Given the description of an element on the screen output the (x, y) to click on. 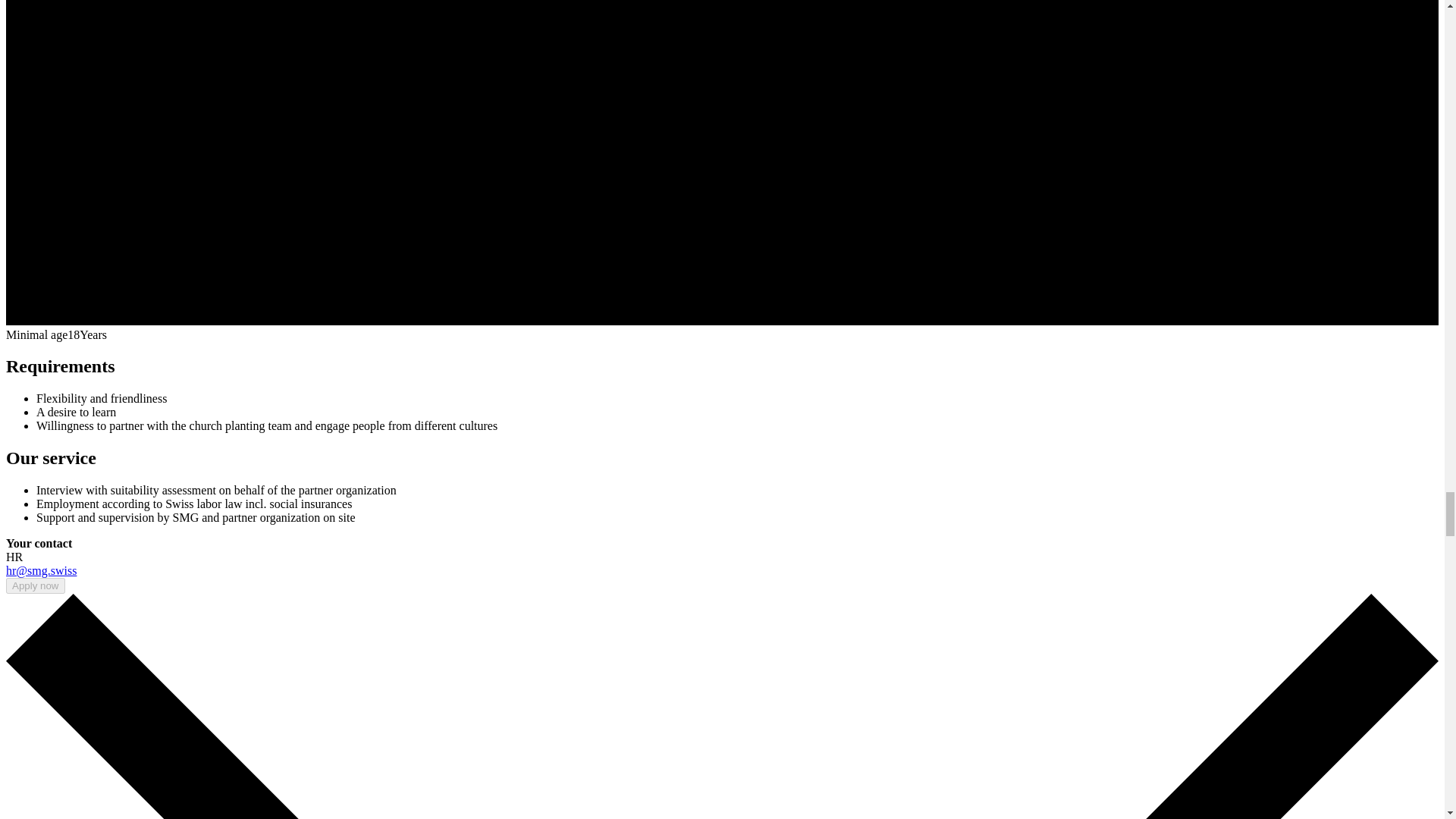
Apply now (35, 585)
